Given the description of an element on the screen output the (x, y) to click on. 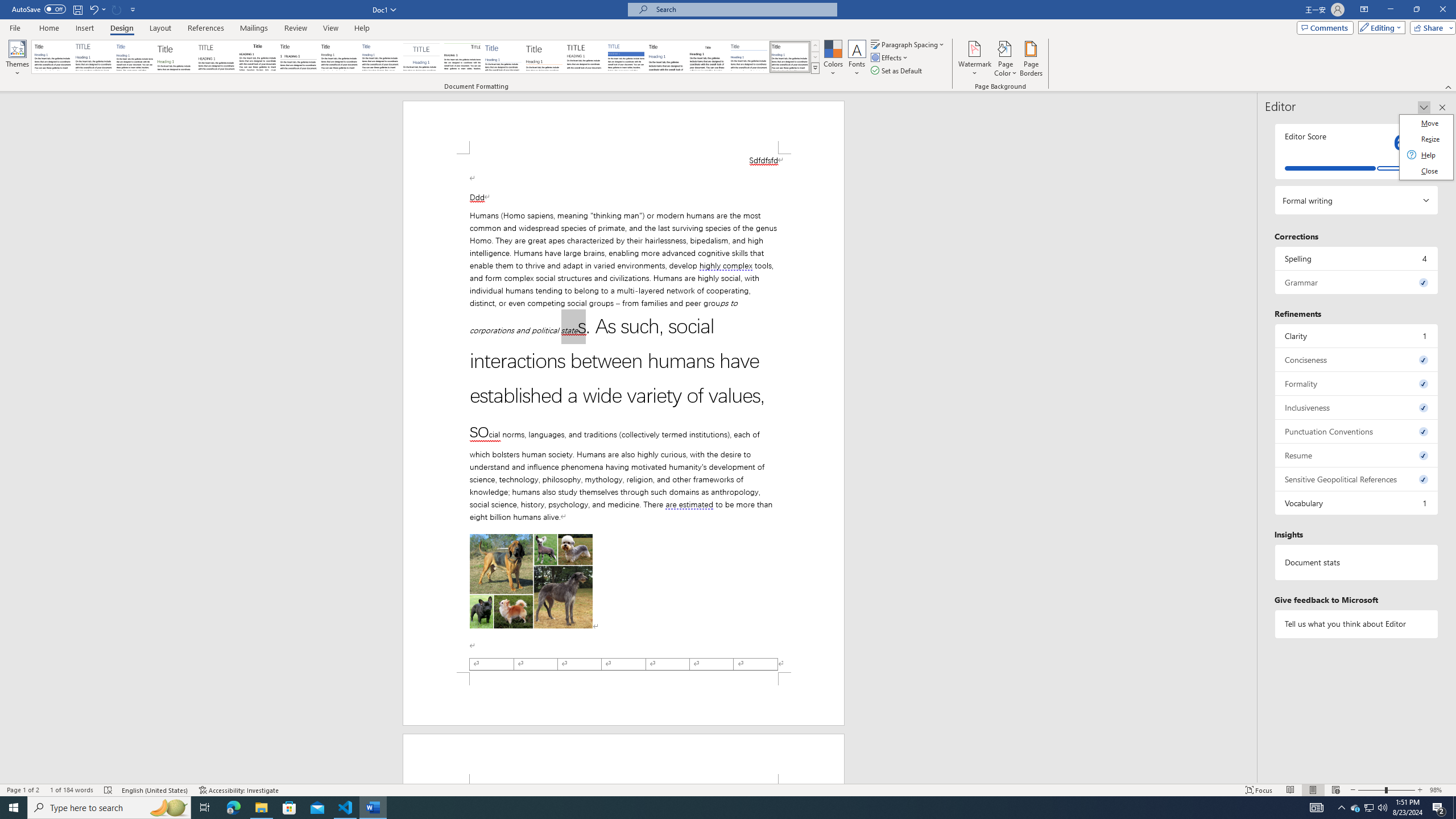
Clarity, 1 issue. Press space or enter to review items. (1356, 335)
Black & White (Capitalized) (216, 56)
Undo Apply Quick Style Set (92, 9)
Paragraph Spacing (908, 44)
Black & White (Classic) (257, 56)
